Given the description of an element on the screen output the (x, y) to click on. 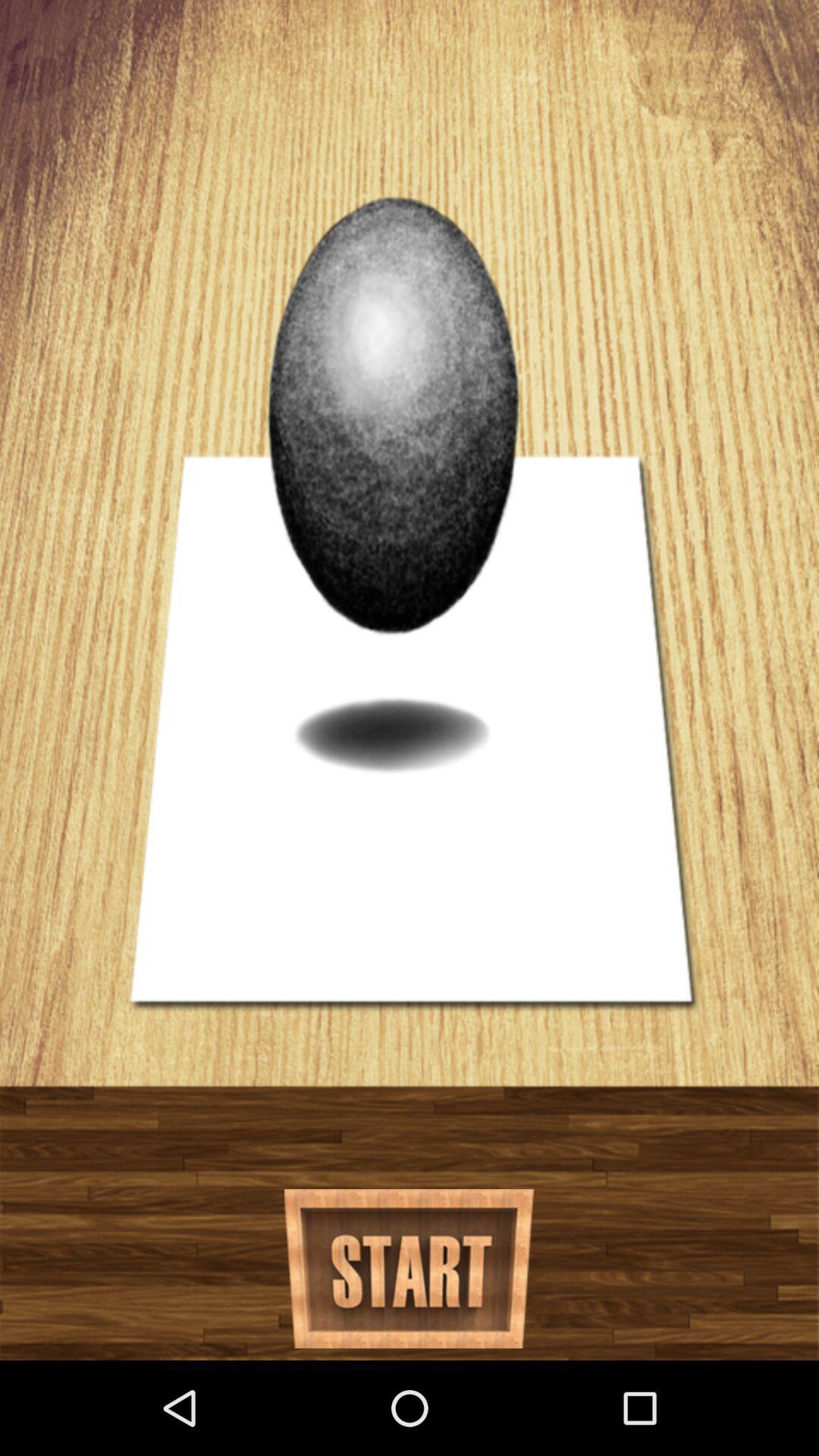
start (409, 1268)
